Given the description of an element on the screen output the (x, y) to click on. 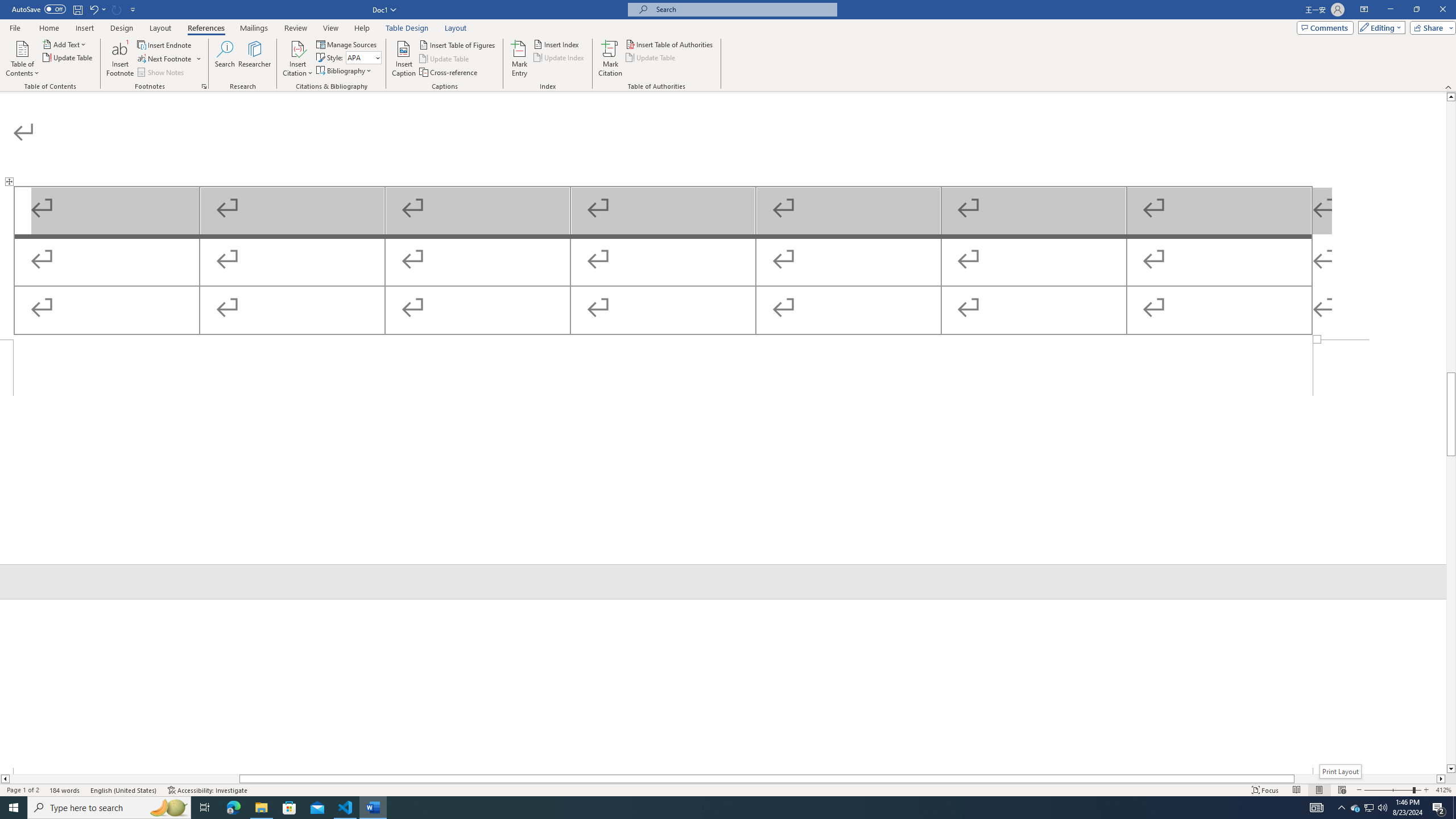
Page Number Page 1 of 2 (22, 790)
Insert Index... (556, 44)
Manage Sources... (347, 44)
Insert Caption... (403, 58)
Undo Outline Move Up (96, 9)
Bibliography (344, 69)
Insert Table of Authorities... (670, 44)
Can't Repeat (117, 9)
